Given the description of an element on the screen output the (x, y) to click on. 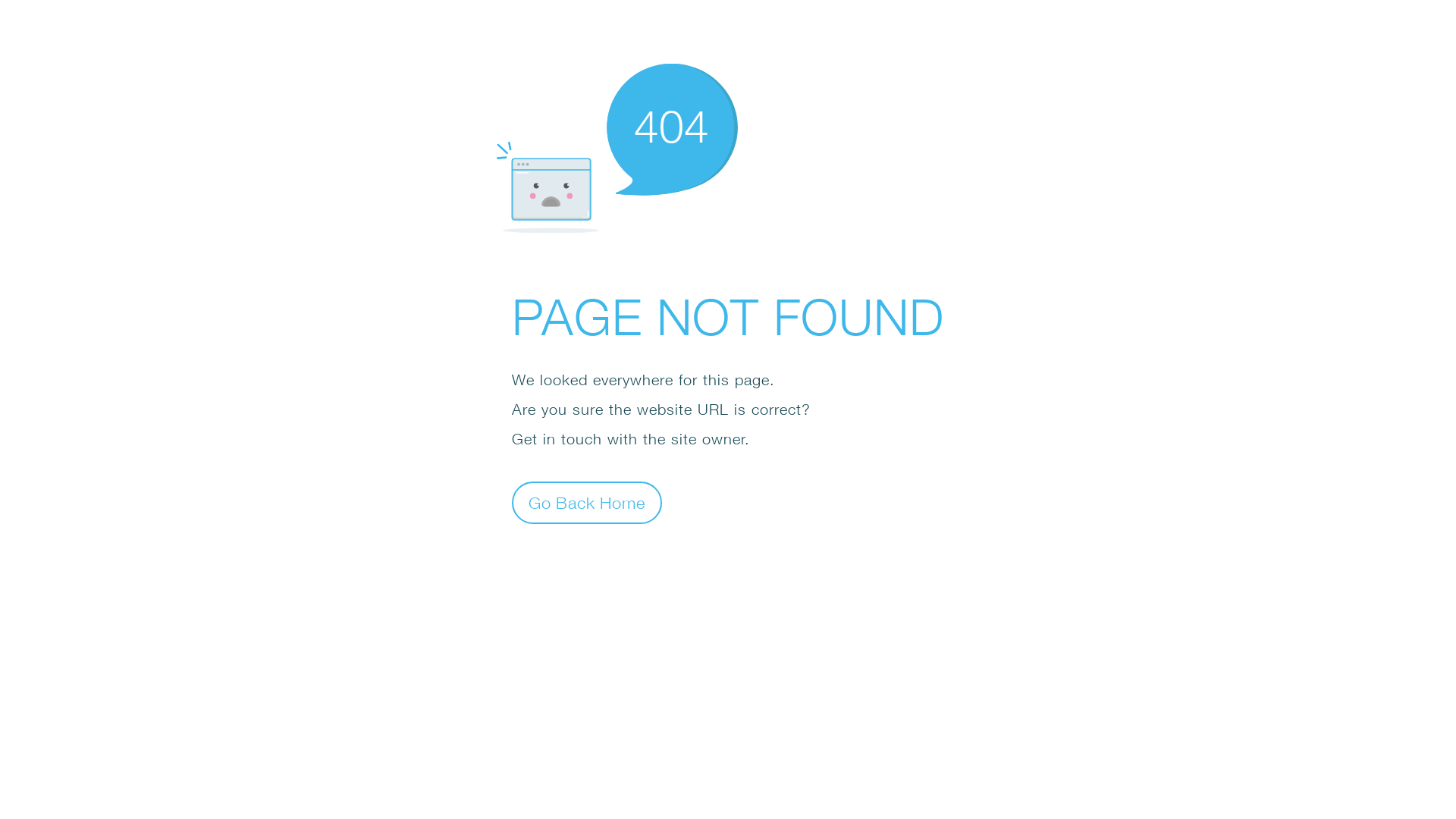
Go Back Home Element type: text (586, 502)
